Given the description of an element on the screen output the (x, y) to click on. 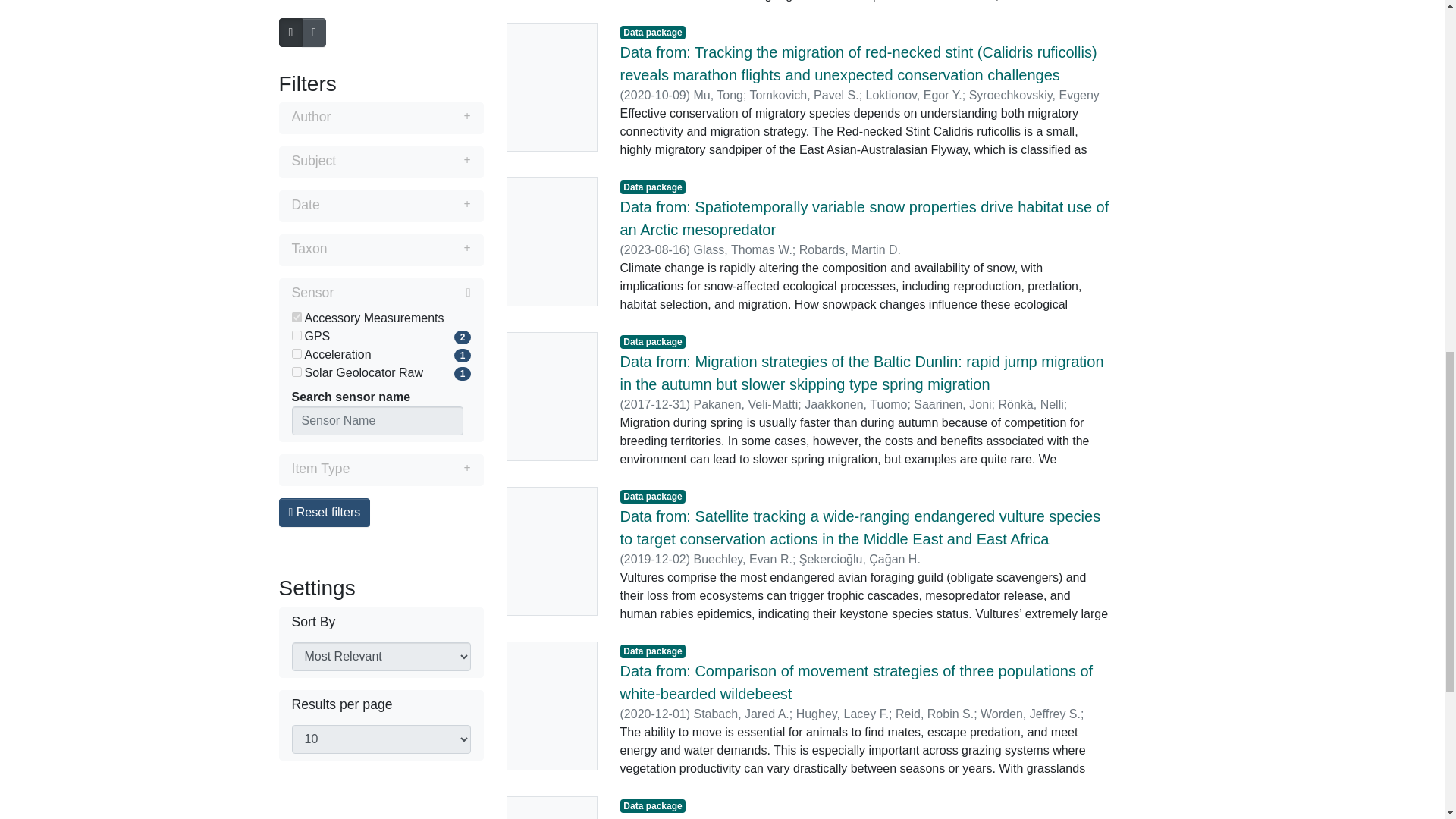
Expand filter (409, 16)
